Given the description of an element on the screen output the (x, y) to click on. 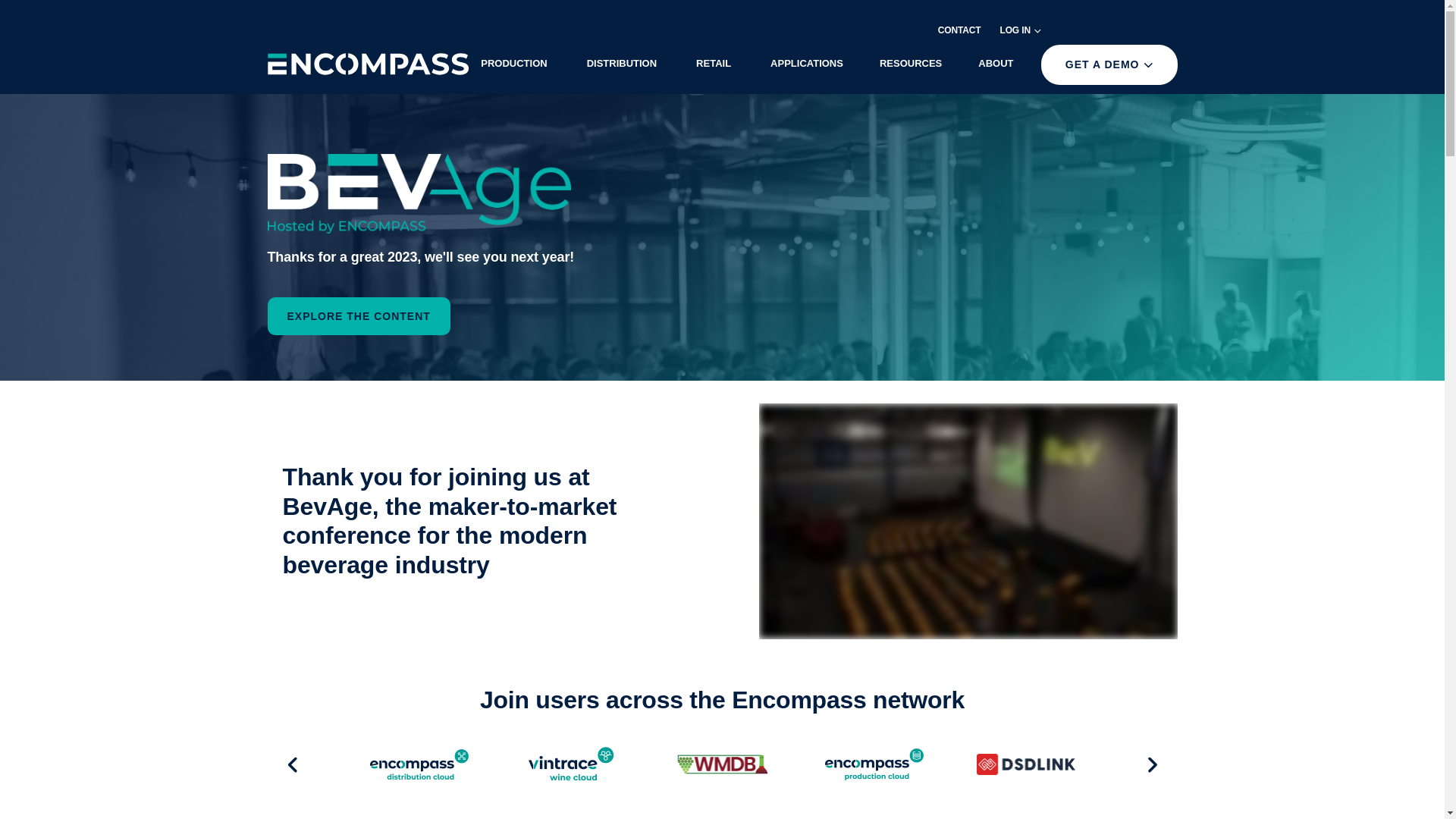
PRODUCTION (513, 62)
GET A DEMO (1108, 65)
EXPLORE THE CONTENT (357, 331)
APPLICATIONS (807, 62)
ABOUT (995, 62)
RETAIL (713, 62)
CONTACT (959, 30)
DISTRIBUTION (621, 62)
